Given the description of an element on the screen output the (x, y) to click on. 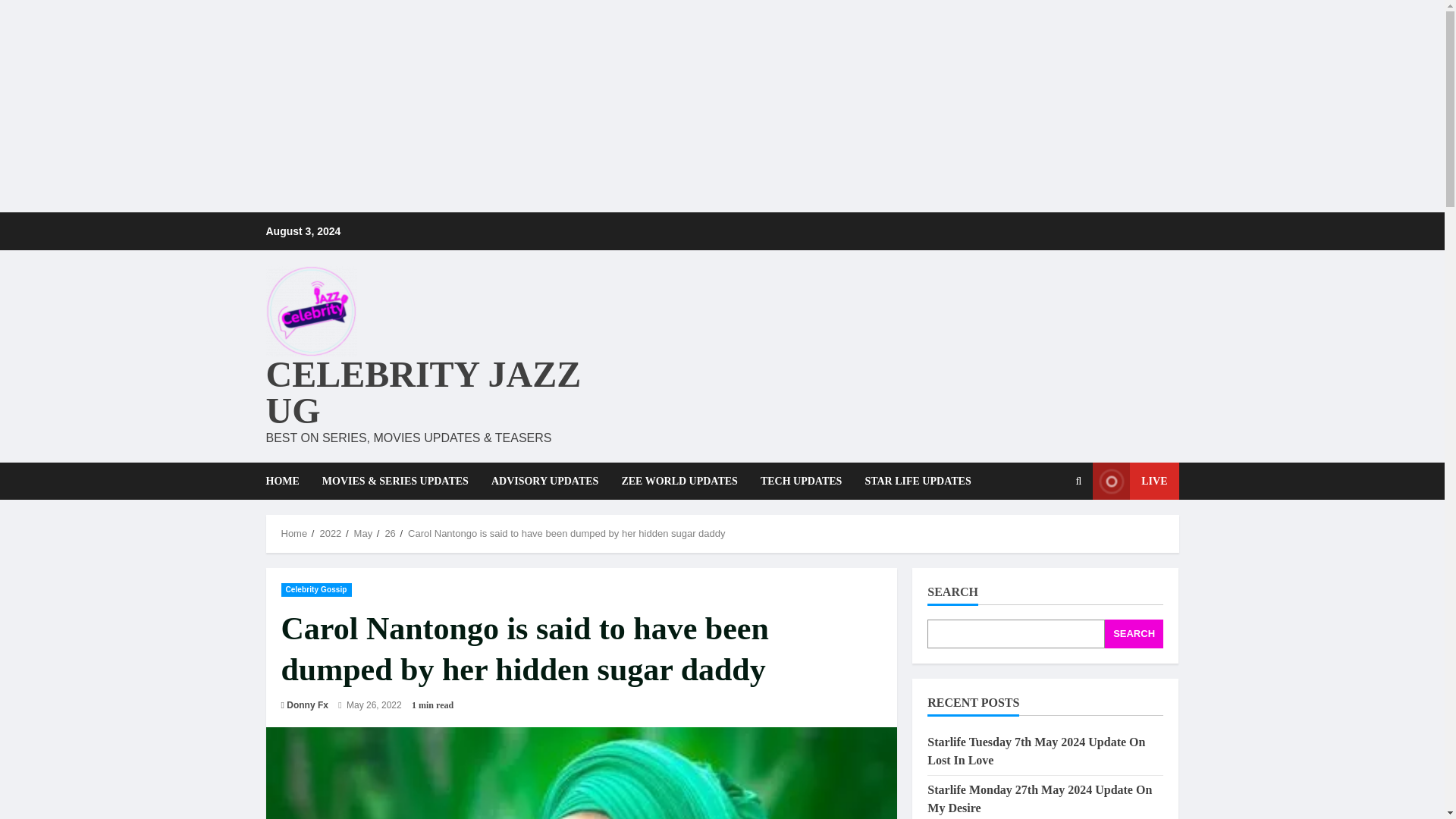
26 (389, 532)
Celebrity Gossip (315, 589)
ZEE WORLD UPDATES (679, 480)
CELEBRITY JAZZ UG (422, 391)
Search (1042, 532)
LIVE (1135, 480)
Donny Fx (307, 704)
HOME (287, 480)
ADVISORY UPDATES (545, 480)
